Given the description of an element on the screen output the (x, y) to click on. 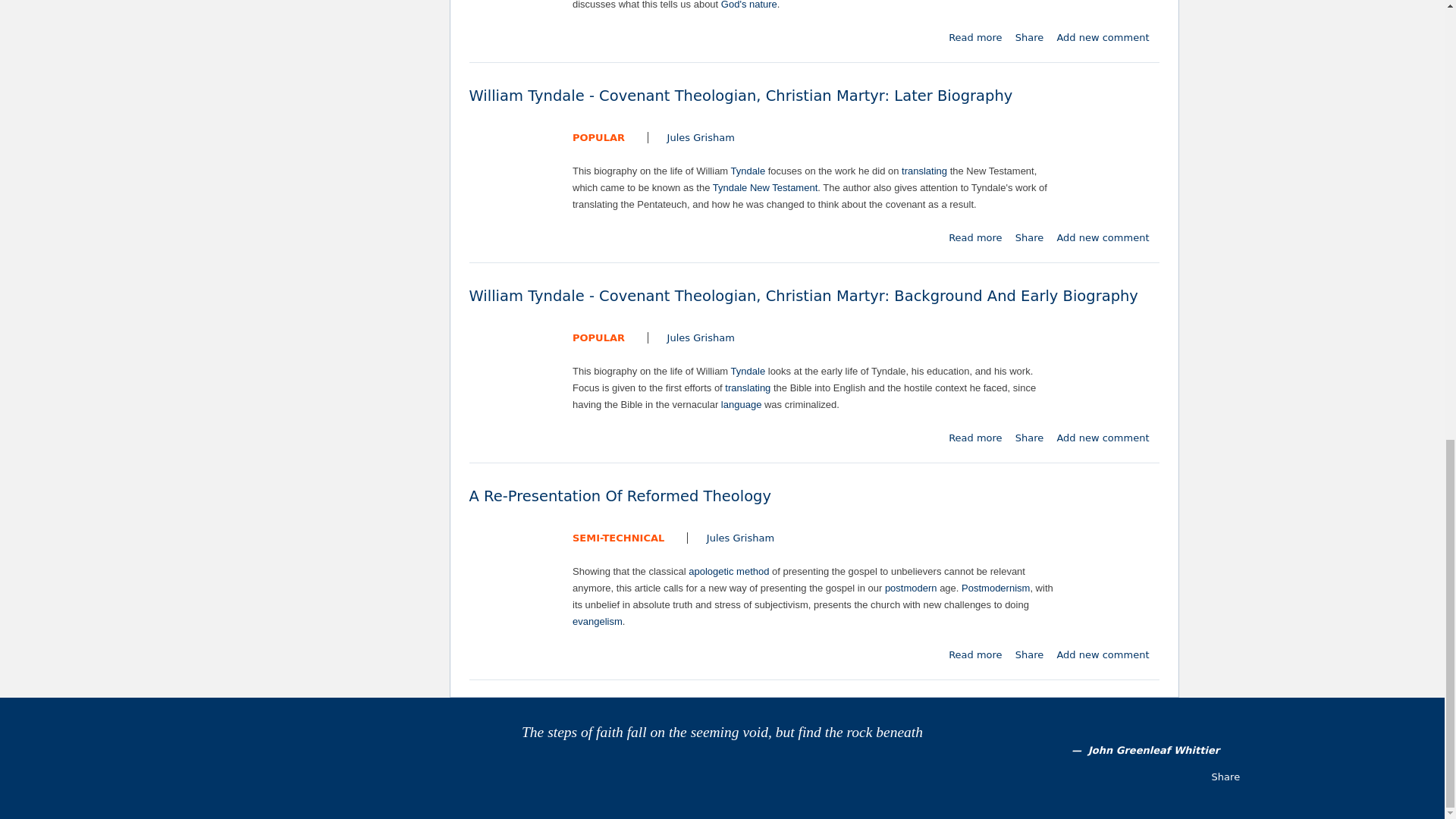
Add a new comment to this page. (1102, 237)
Add a new comment to this page. (1102, 654)
A Re-Presentation Of Reformed Theology (975, 654)
Add a new comment to this page. (1102, 437)
Add a new comment to this page. (1102, 37)
